Given the description of an element on the screen output the (x, y) to click on. 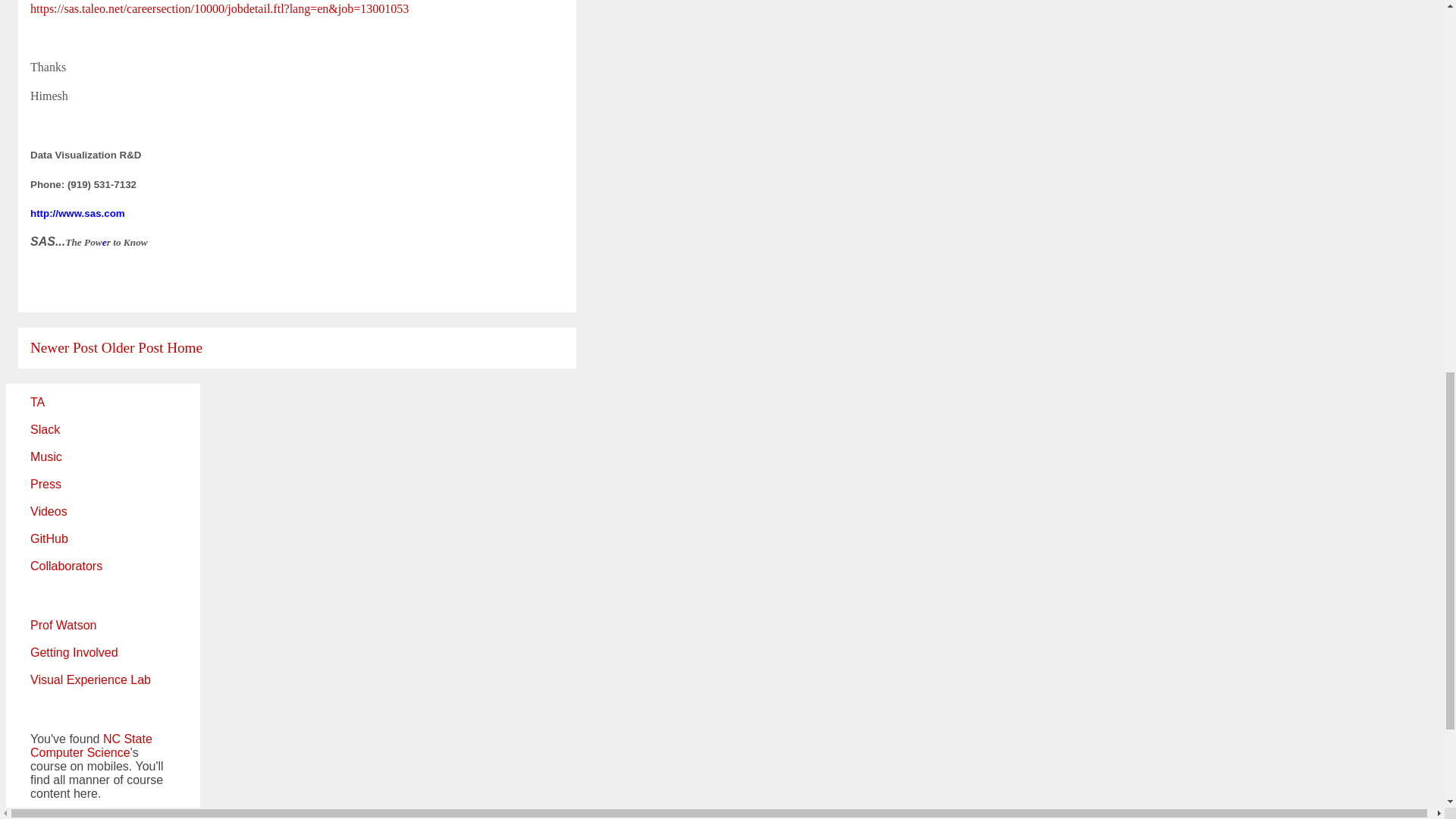
Collaborators (65, 565)
Newer Post (63, 347)
Getting Involved (73, 652)
Press (45, 483)
NC State (127, 738)
TA (37, 401)
Newer Post (63, 347)
Prof Watson (63, 625)
Videos (48, 511)
Visual Experience Lab (90, 679)
